Given the description of an element on the screen output the (x, y) to click on. 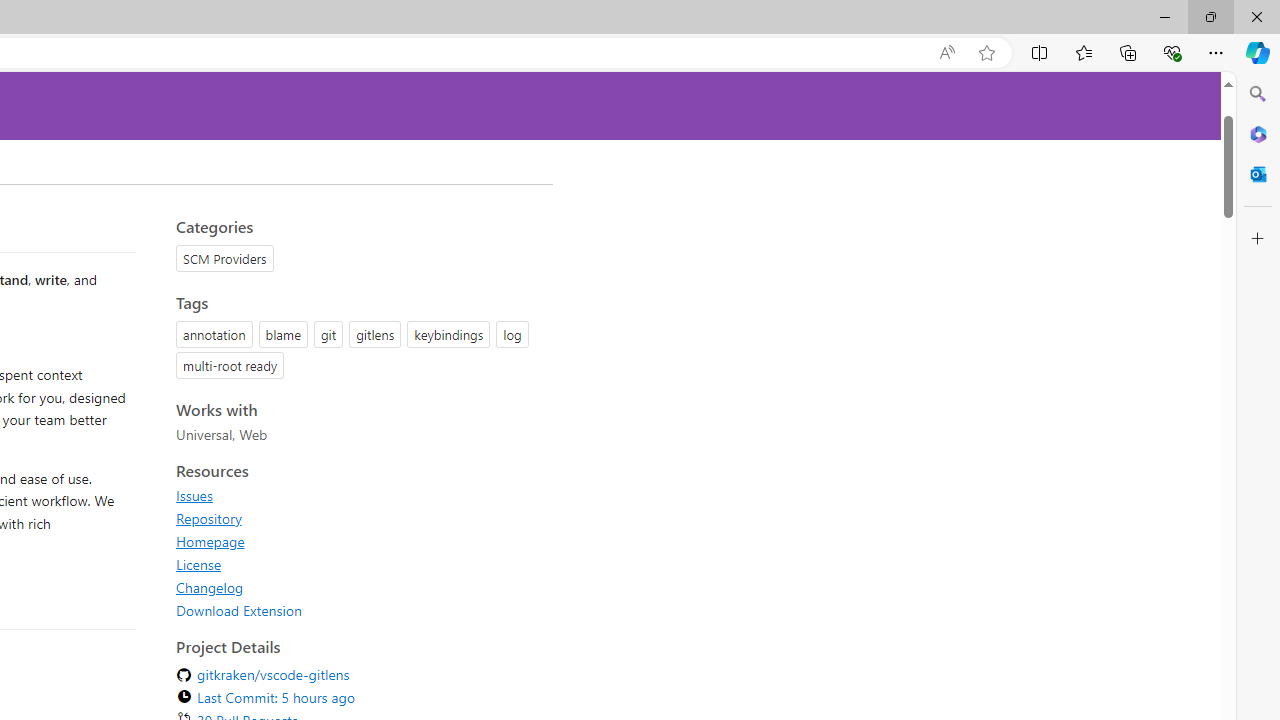
Changelog (210, 587)
Changelog (358, 587)
Download Extension (358, 610)
